Given the description of an element on the screen output the (x, y) to click on. 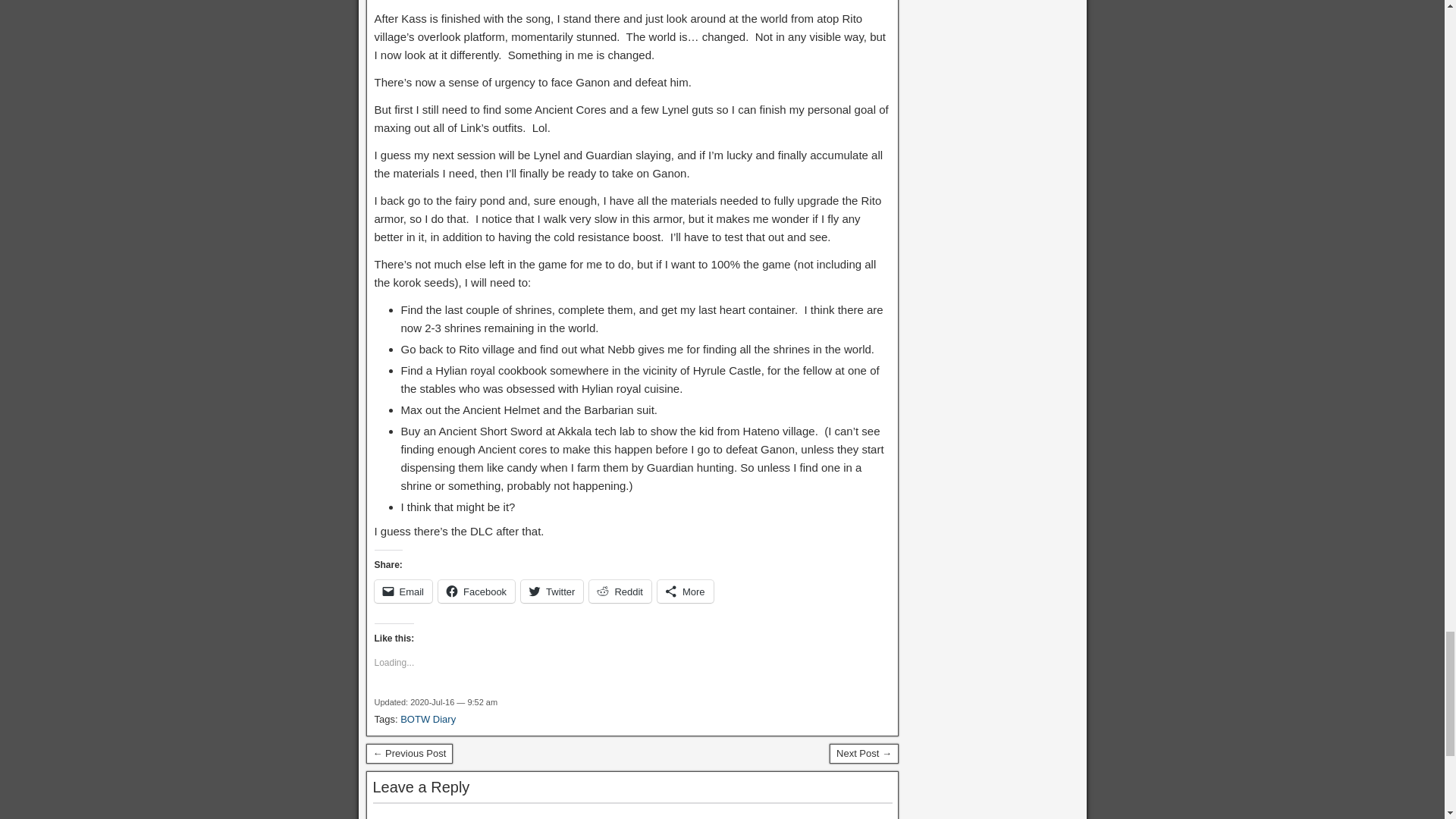
Click to share on Twitter (552, 590)
Click to email a link to a friend (403, 590)
I never liked Donkey Kong (863, 753)
Click to share on Reddit (619, 590)
Comment Form (632, 810)
Click to share on Facebook (476, 590)
